Given the description of an element on the screen output the (x, y) to click on. 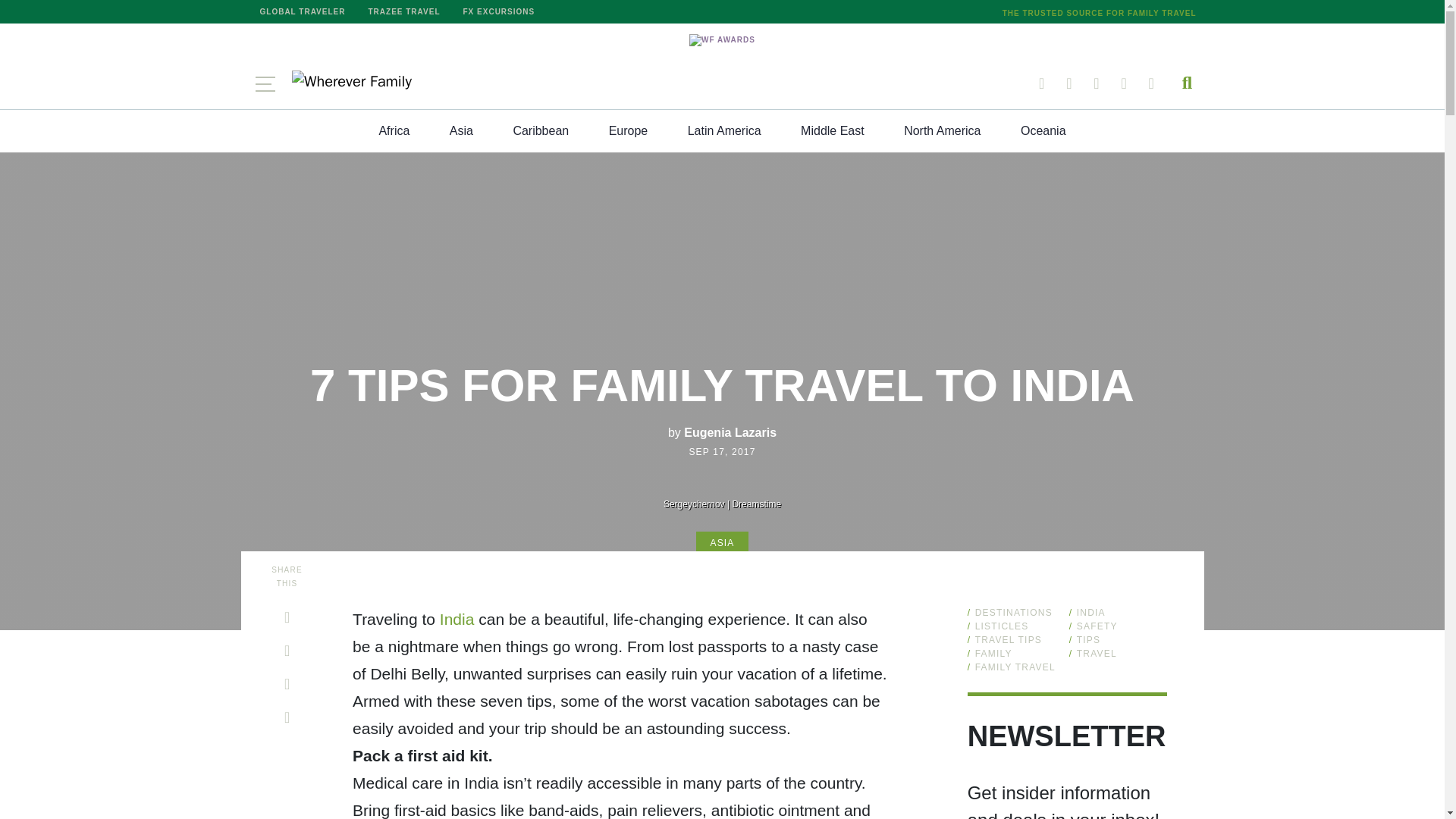
FX EXCURSIONS (499, 11)
GLOBAL TRAVELER (302, 11)
Africa (393, 130)
TRAZEE TRAVEL (403, 11)
